Given the description of an element on the screen output the (x, y) to click on. 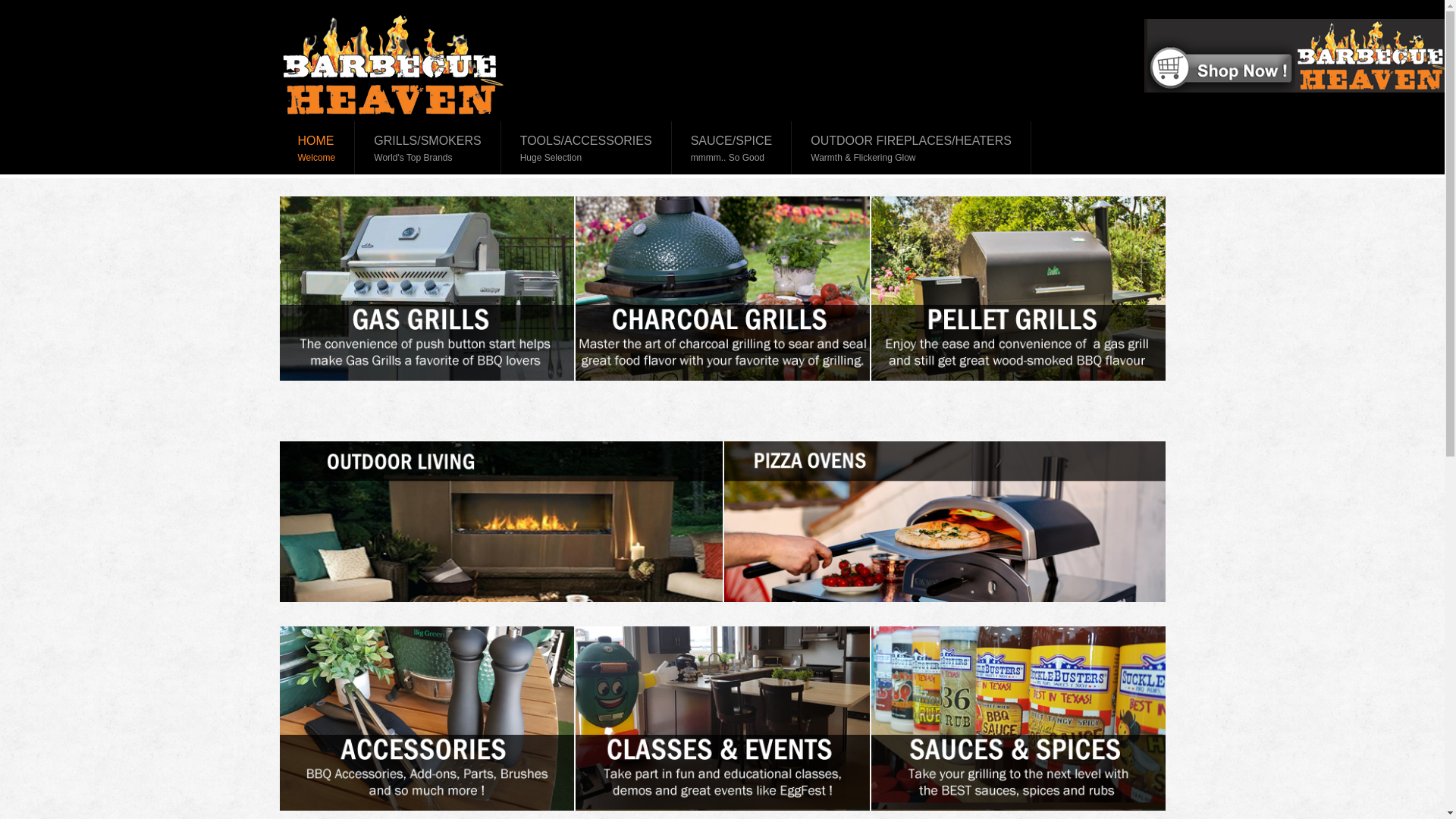
SAUCE/SPICE
mmmm.. So Good Element type: text (731, 147)
TOOLS/ACCESSORIES
Huge Selection Element type: text (586, 147)
OUTDOOR FIREPLACES/HEATERS
Warmth & Flickering Glow Element type: text (911, 147)
HOME
Welcome Element type: text (317, 147)
GRILLS/SMOKERS
World's Top Brands Element type: text (427, 147)
